Given the description of an element on the screen output the (x, y) to click on. 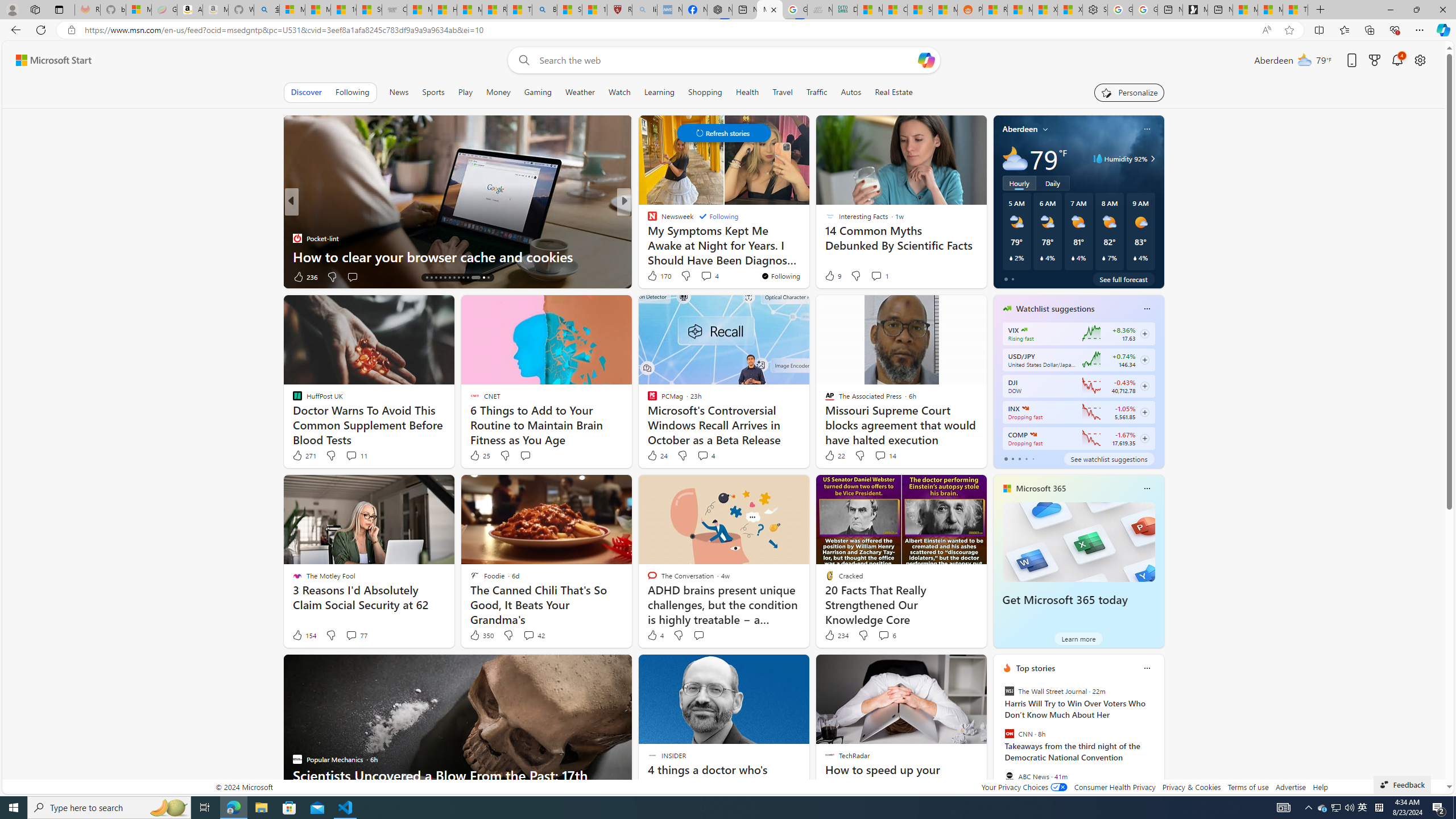
Notifications (1397, 60)
Start the conversation (698, 635)
Shopping (705, 92)
Autos (850, 92)
Learn more (1078, 638)
CNN (1008, 733)
